Given the description of an element on the screen output the (x, y) to click on. 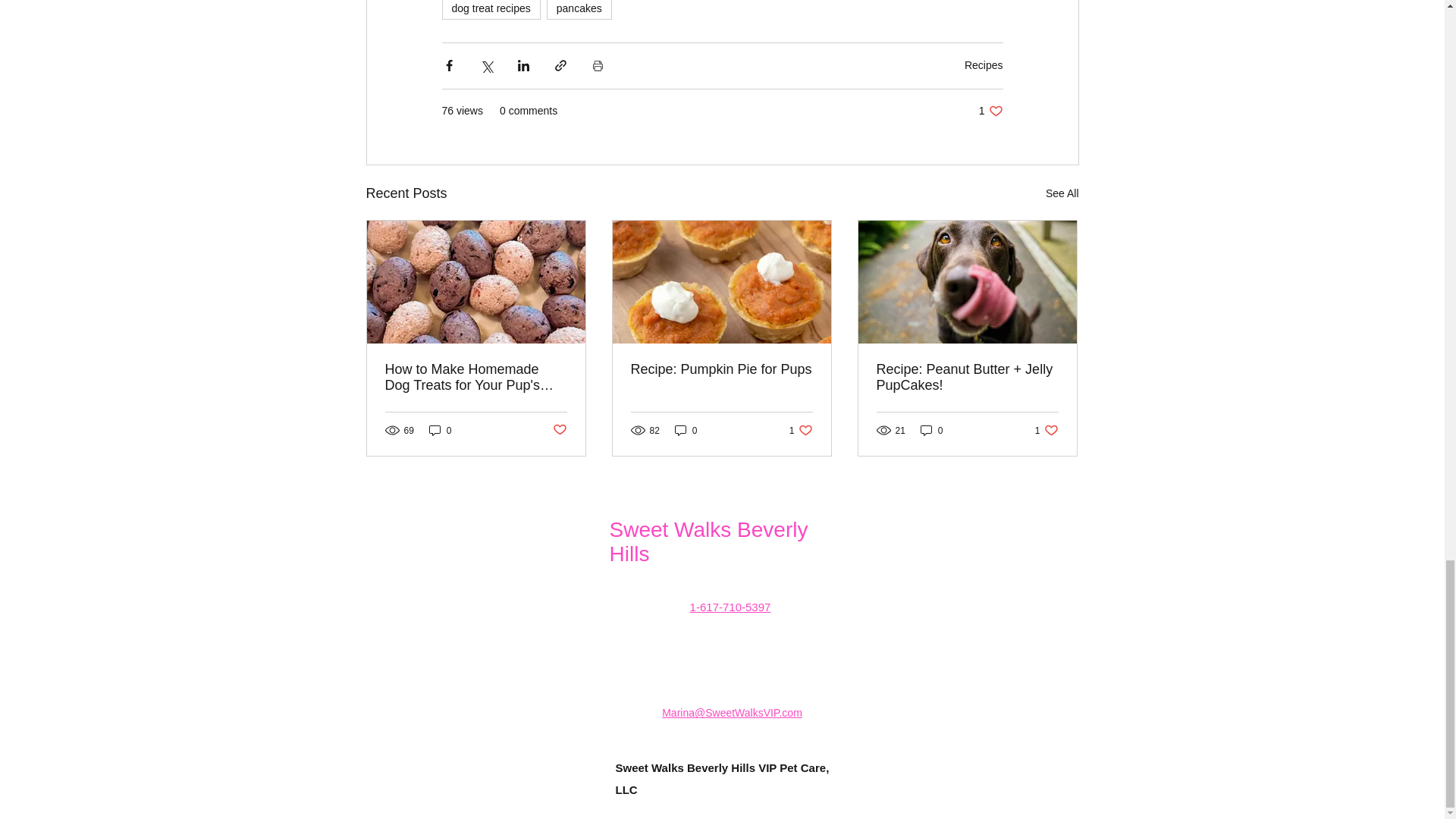
See All (1061, 193)
0 (931, 430)
pancakes (579, 9)
0 (440, 430)
Post not marked as liked (558, 430)
Recipes (990, 110)
0 (983, 64)
dog treat recipes (685, 430)
